Given the description of an element on the screen output the (x, y) to click on. 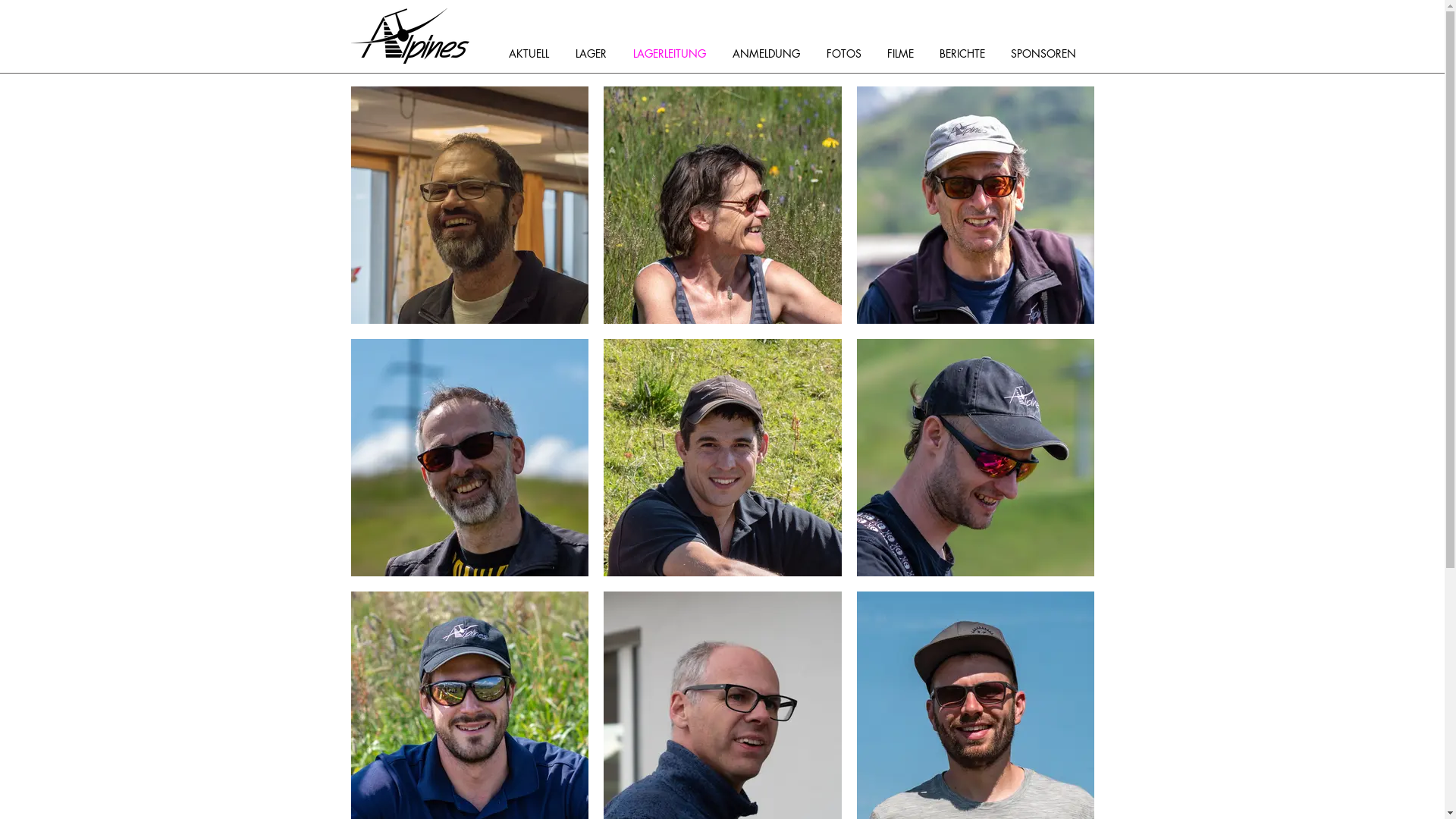
LAGER Element type: text (595, 53)
LAGERLEITUNG Element type: text (674, 53)
BERICHTE Element type: text (966, 53)
SPONSOREN Element type: text (1047, 53)
ANMELDUNG Element type: text (771, 53)
AKTUELL Element type: text (533, 53)
